Given the description of an element on the screen output the (x, y) to click on. 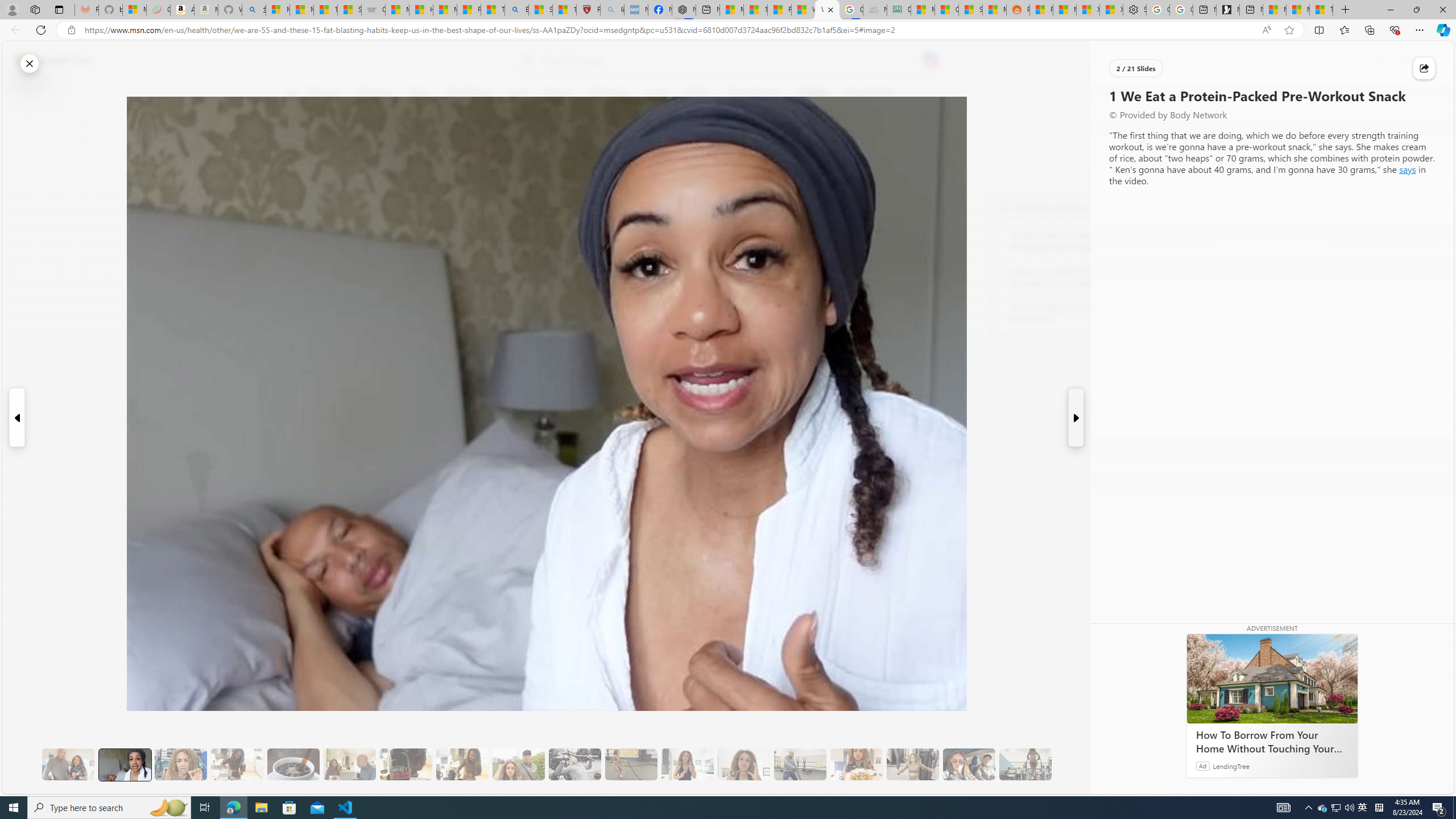
2 They Use Protein Powder for Flavor (180, 764)
Previous Slide (16, 417)
Combat Siege (373, 9)
12 Popular Science Lies that Must be Corrected (563, 9)
14 They Have Salmon and Veggies for Dinner (855, 764)
